Given the description of an element on the screen output the (x, y) to click on. 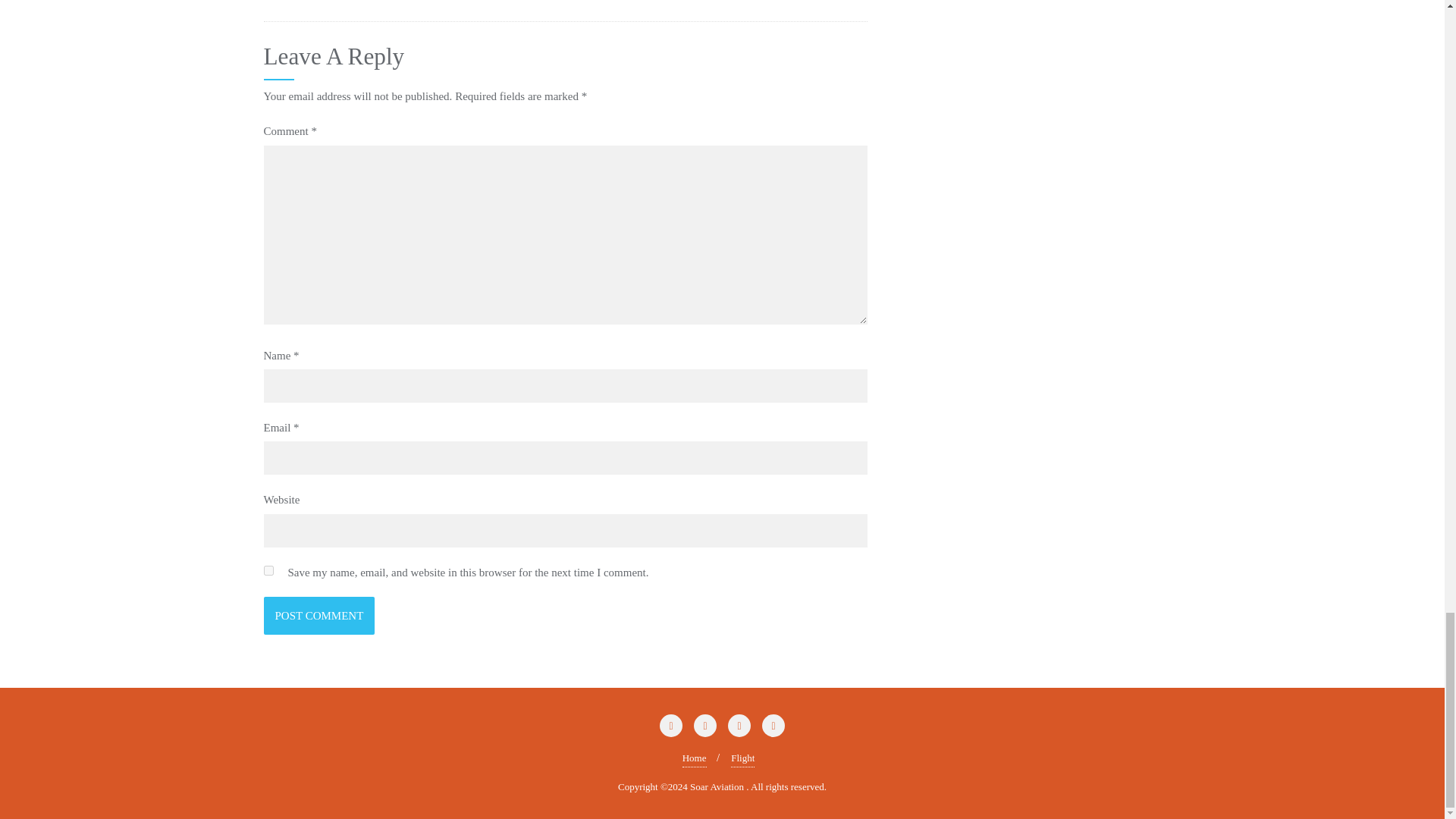
Post Comment (319, 615)
yes (268, 570)
Post Comment (319, 615)
Home (694, 758)
Flight (742, 758)
